Given the description of an element on the screen output the (x, y) to click on. 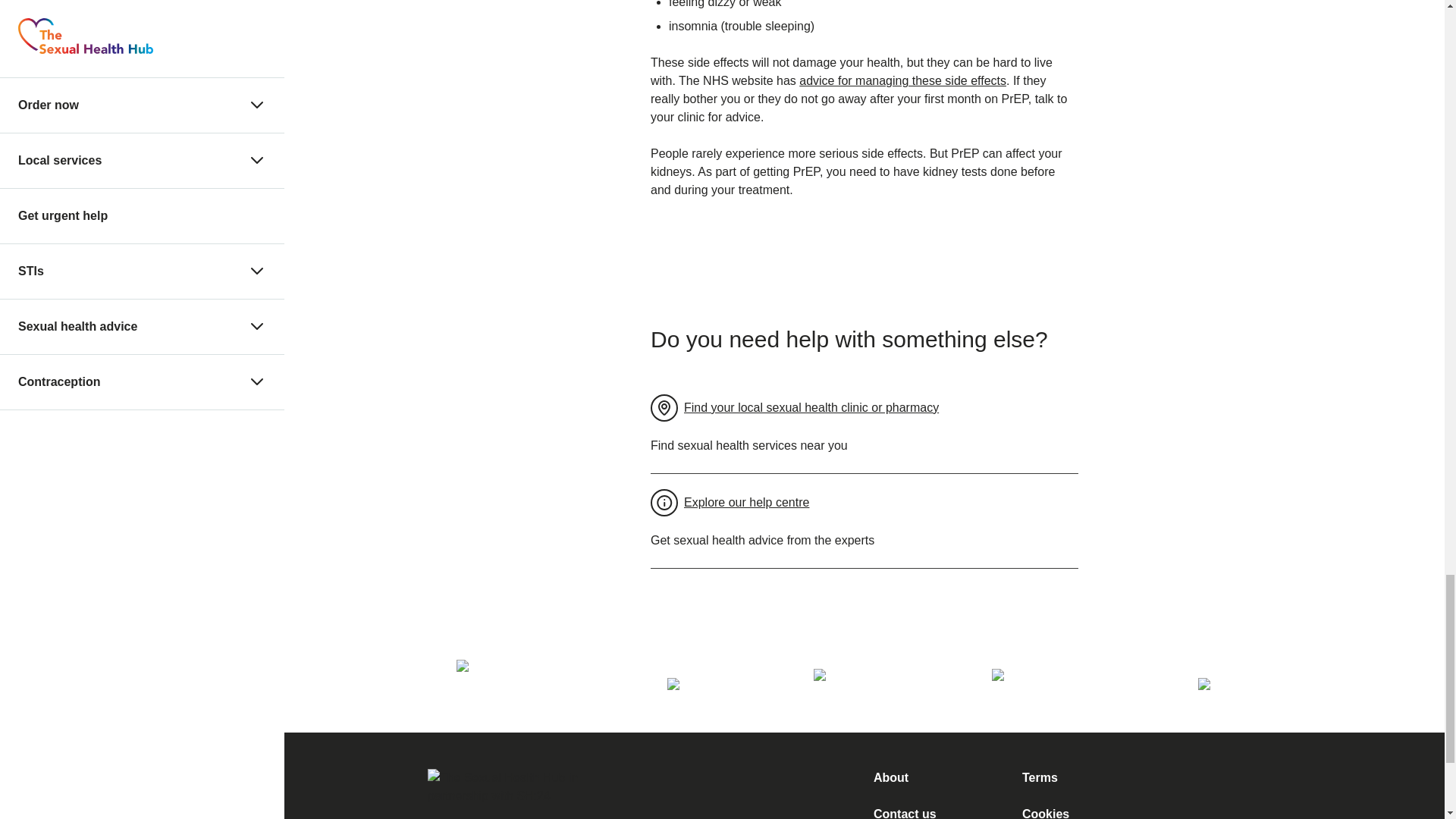
Find your local sexual health clinic or pharmacy (794, 407)
Contact us (904, 813)
advice for managing these side effects (902, 80)
About (890, 777)
Explore our help centre (729, 502)
Cookies (1045, 813)
Terms (1040, 777)
